Given the description of an element on the screen output the (x, y) to click on. 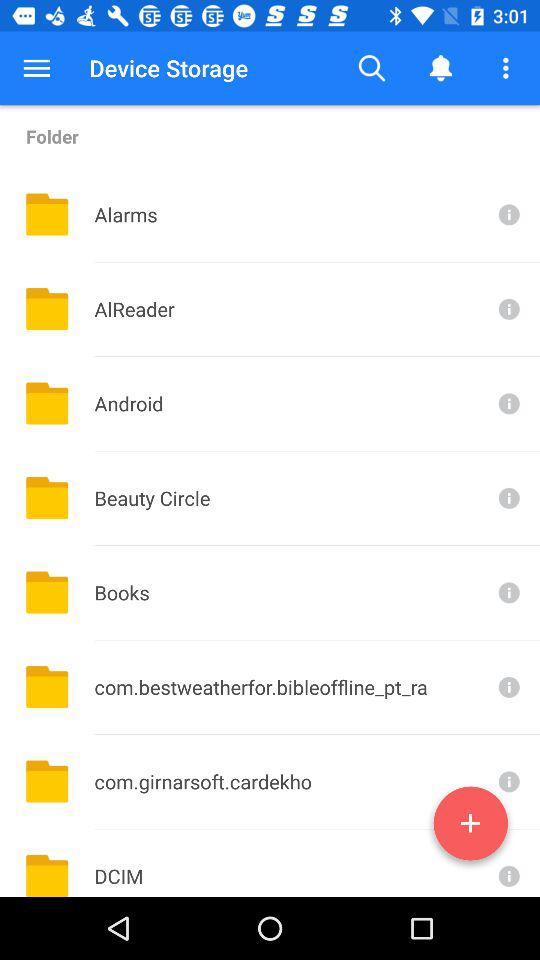
more information on books folder (507, 592)
